Given the description of an element on the screen output the (x, y) to click on. 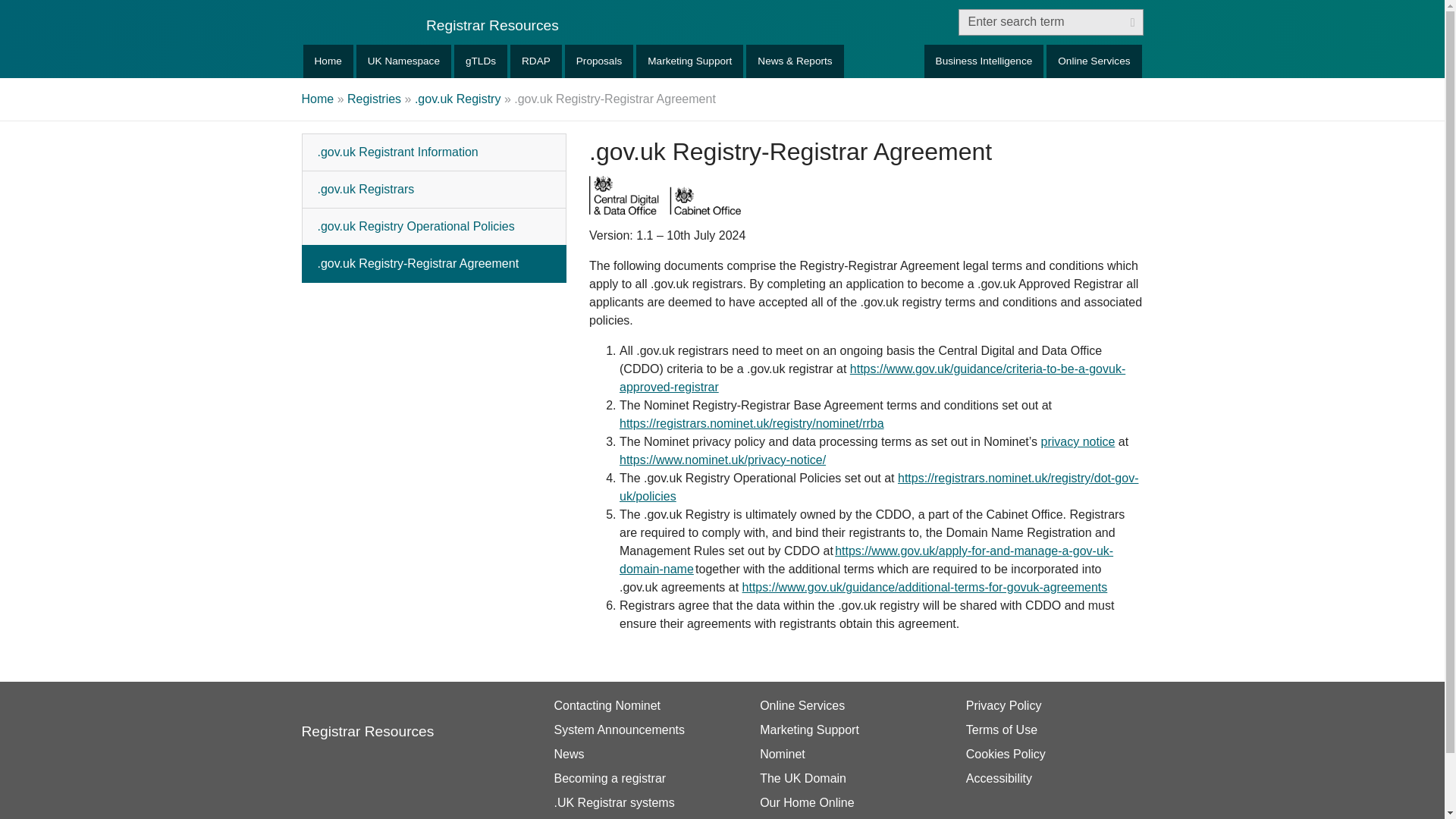
Nominet Logo (367, 719)
Business Intelligence (983, 61)
Registries (374, 98)
Becoming a registrar (638, 778)
.gov.uk Registrant Information (434, 152)
Privacy Policy (1050, 705)
Proposals (598, 61)
.gov.uk Registry (457, 98)
Home (327, 61)
Marketing Support (689, 61)
The UK Domain (845, 778)
Marketing Support (845, 730)
Home (317, 98)
Nominet (367, 719)
